Given the description of an element on the screen output the (x, y) to click on. 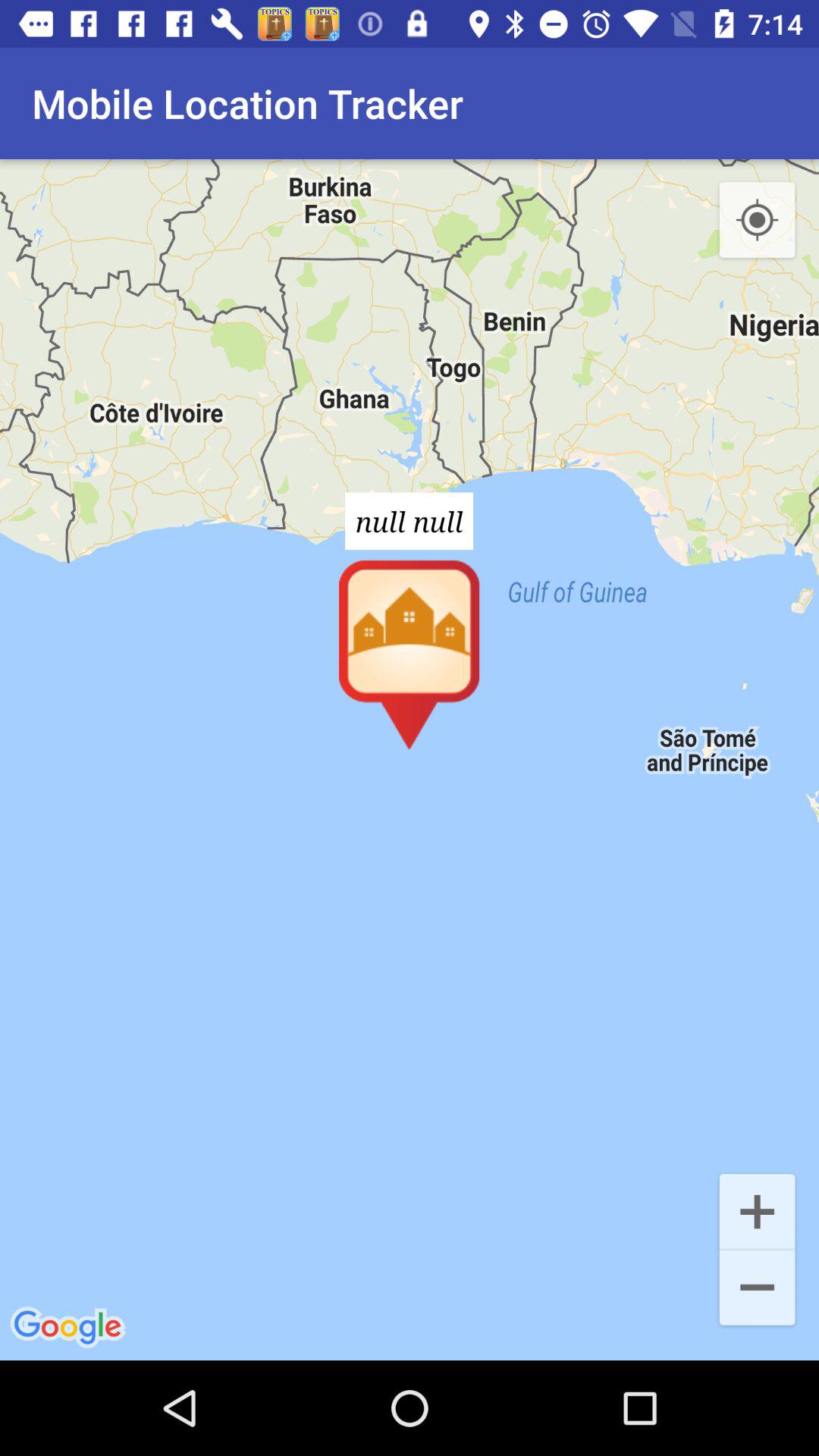
turn off icon at the center (409, 759)
